Given the description of an element on the screen output the (x, y) to click on. 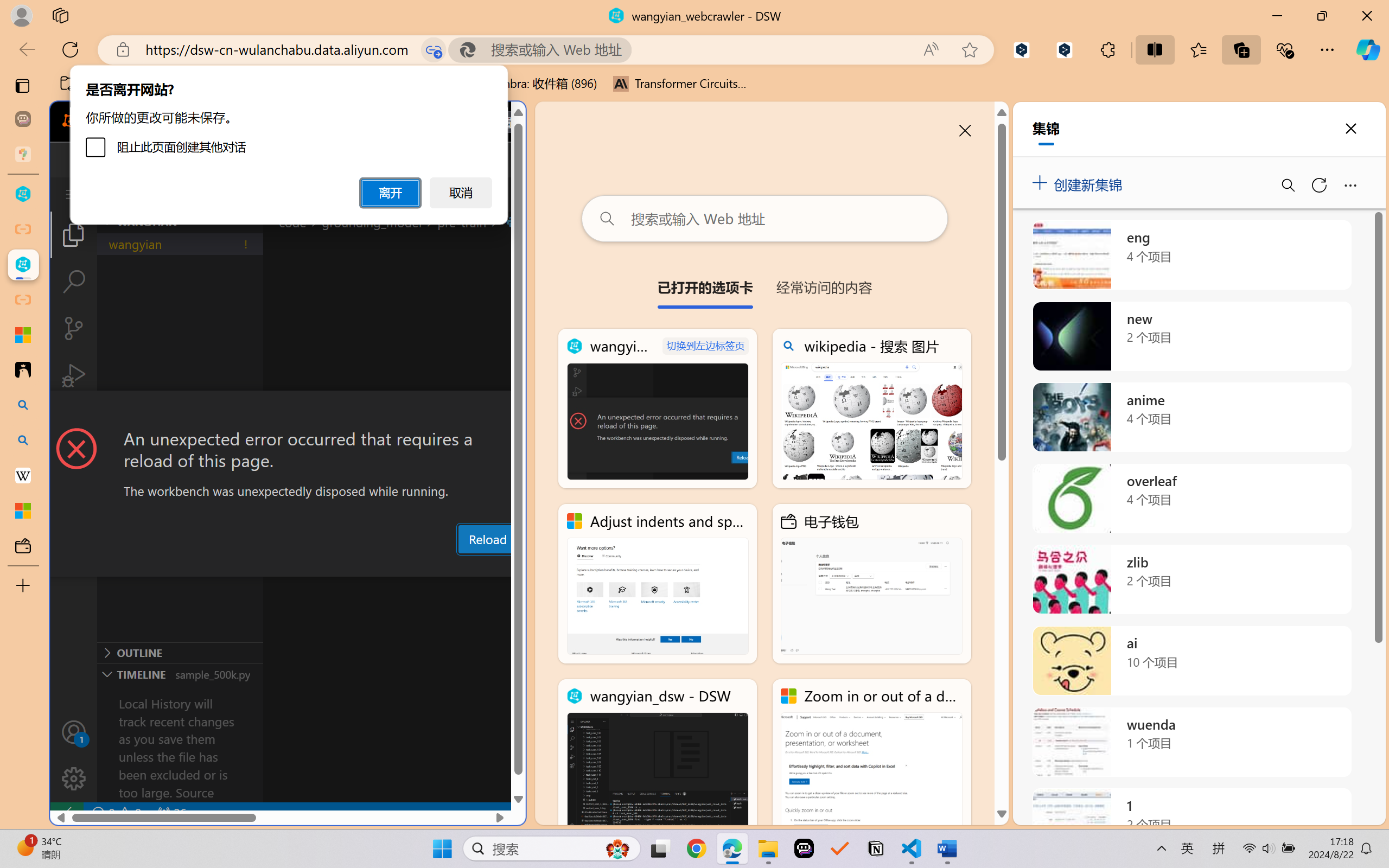
Manage (73, 778)
Accounts - Sign in requested (73, 732)
Adjust indents and spacing - Microsoft Support (657, 583)
Extensions (Ctrl+Shift+X) (73, 422)
Output (Ctrl+Shift+U) (377, 565)
remote (66, 812)
